Given the description of an element on the screen output the (x, y) to click on. 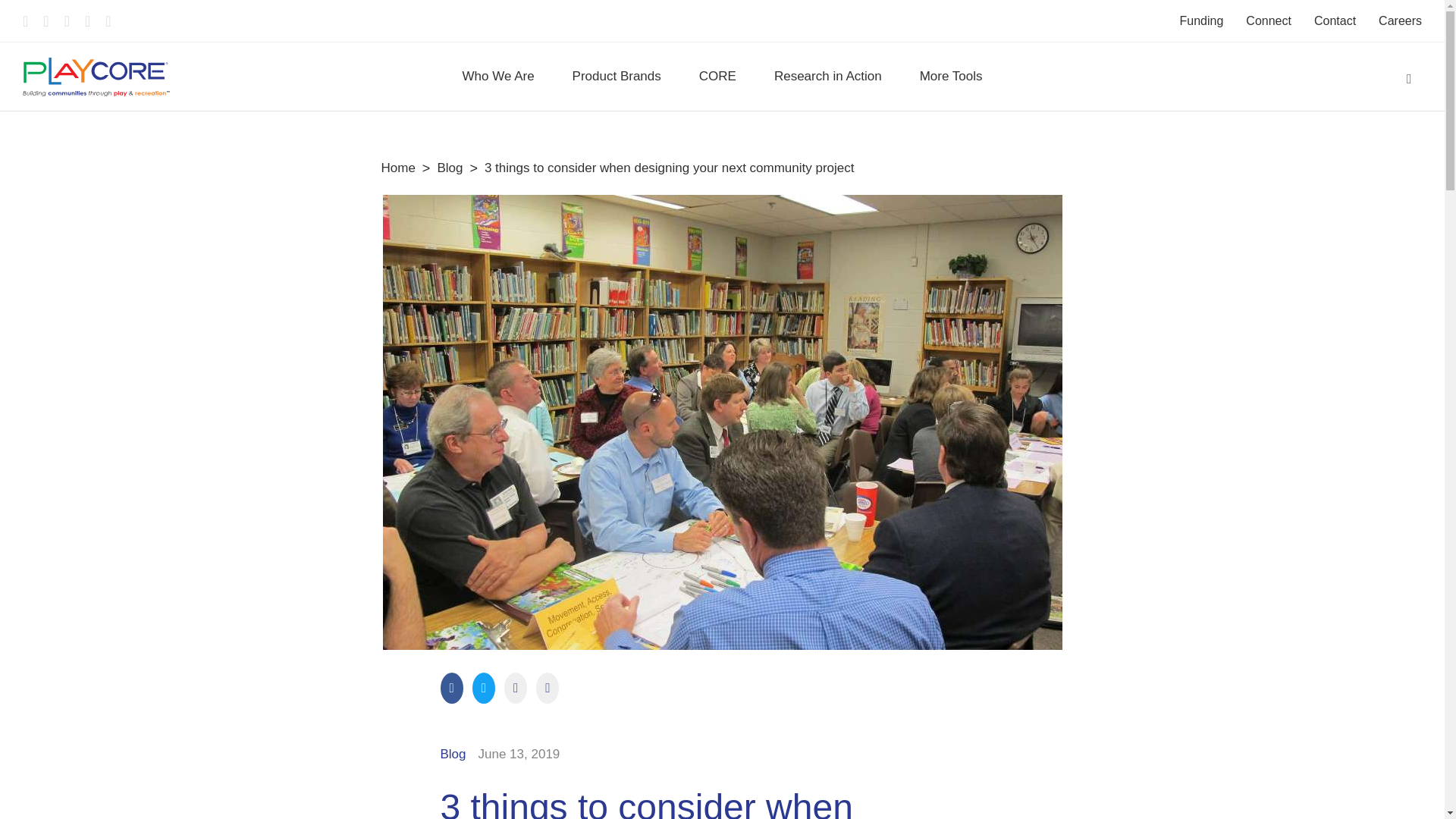
PlayCore (96, 76)
Funding (1201, 20)
Research in Action (828, 75)
Contact (1334, 20)
Careers (1400, 20)
Product Brands (616, 75)
Who We Are (497, 75)
Connect (1268, 20)
CORE (717, 75)
